Given the description of an element on the screen output the (x, y) to click on. 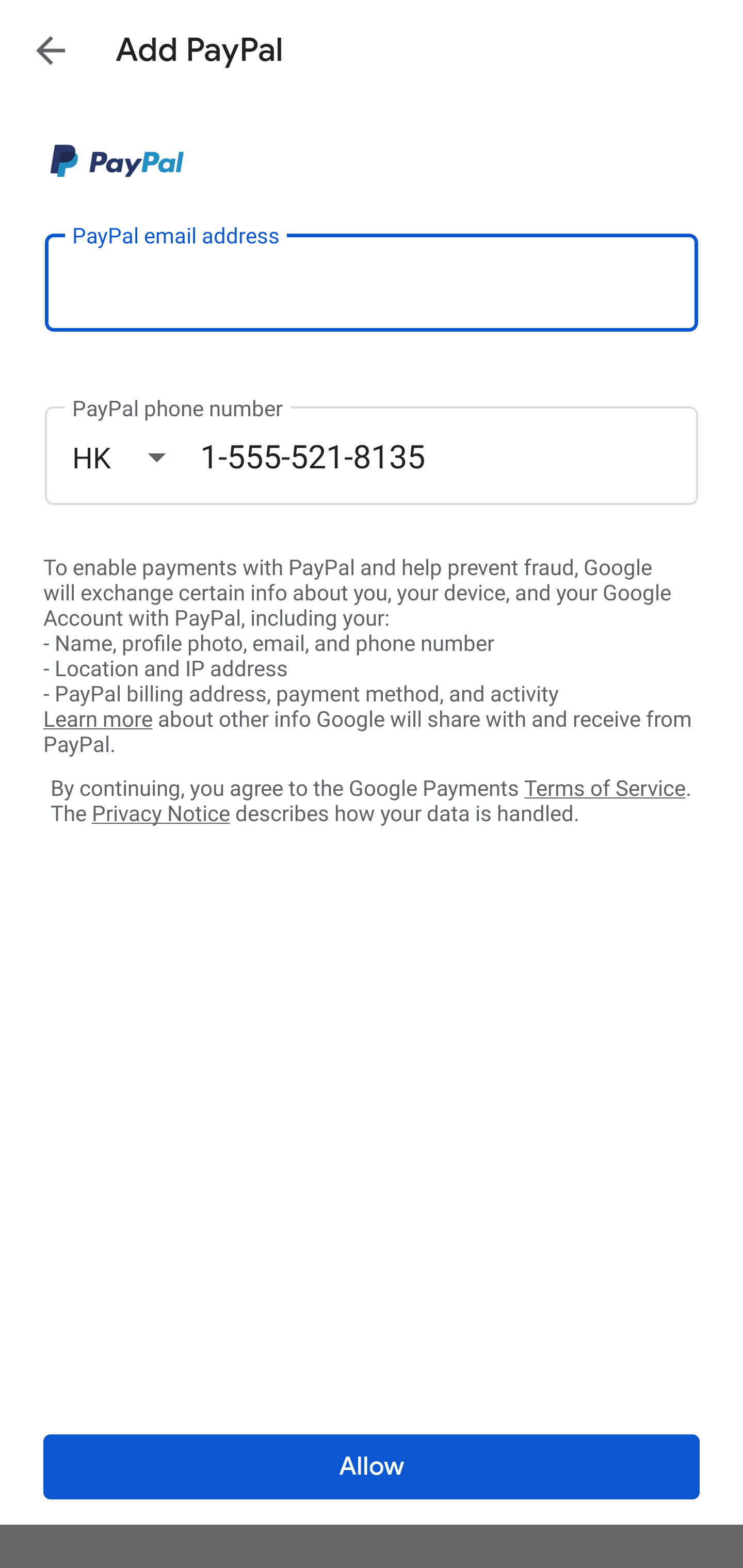
Navigate up (50, 50)
PayPal email address (371, 282)
HK (135, 456)
Learn more (97, 719)
Terms of Service (604, 787)
Privacy Notice (160, 814)
Allow (371, 1466)
